Given the description of an element on the screen output the (x, y) to click on. 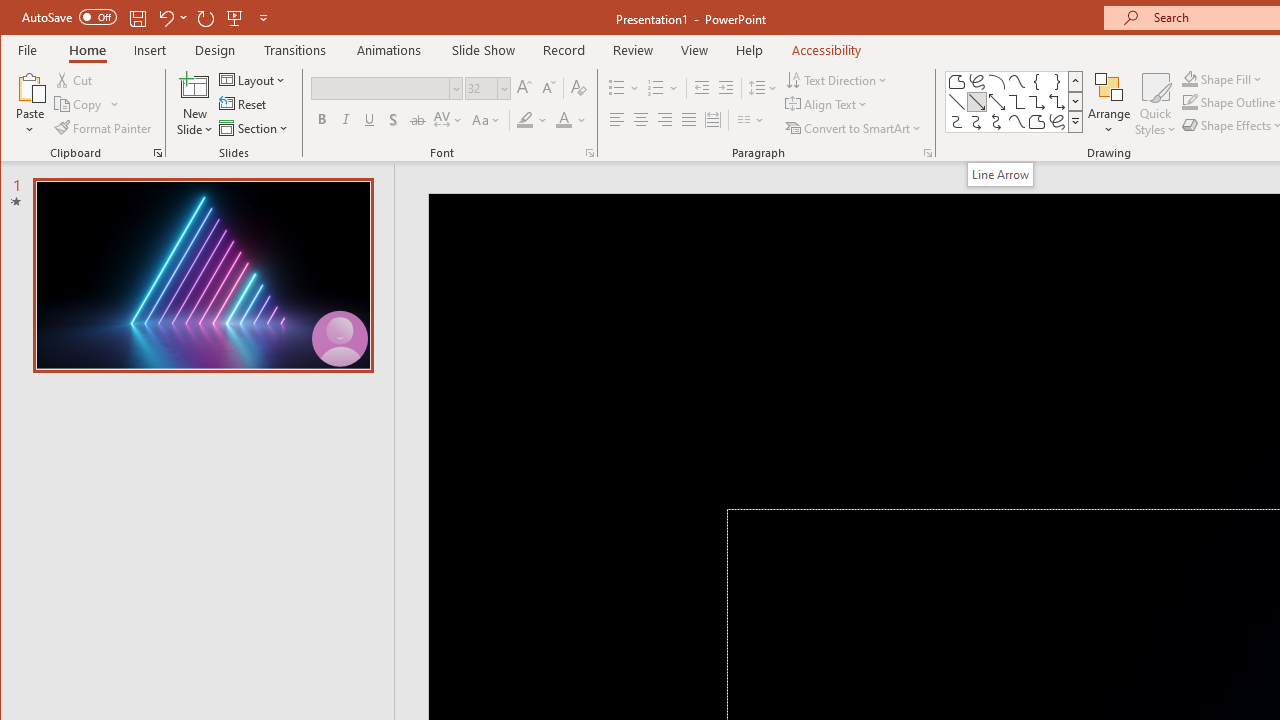
Connector: Elbow Double-Arrow (1057, 102)
